Given the description of an element on the screen output the (x, y) to click on. 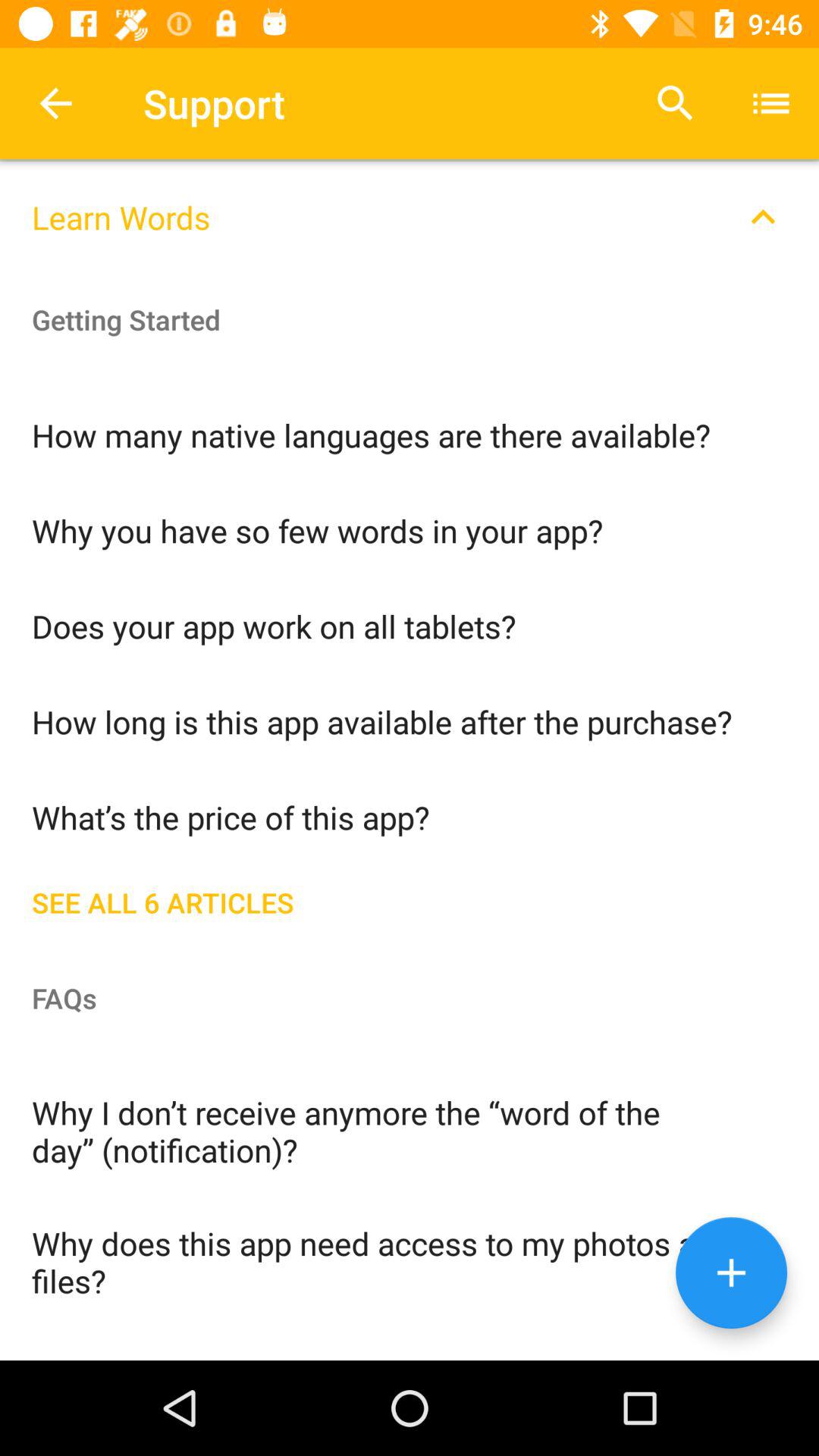
click item above i can t item (409, 1260)
